Given the description of an element on the screen output the (x, y) to click on. 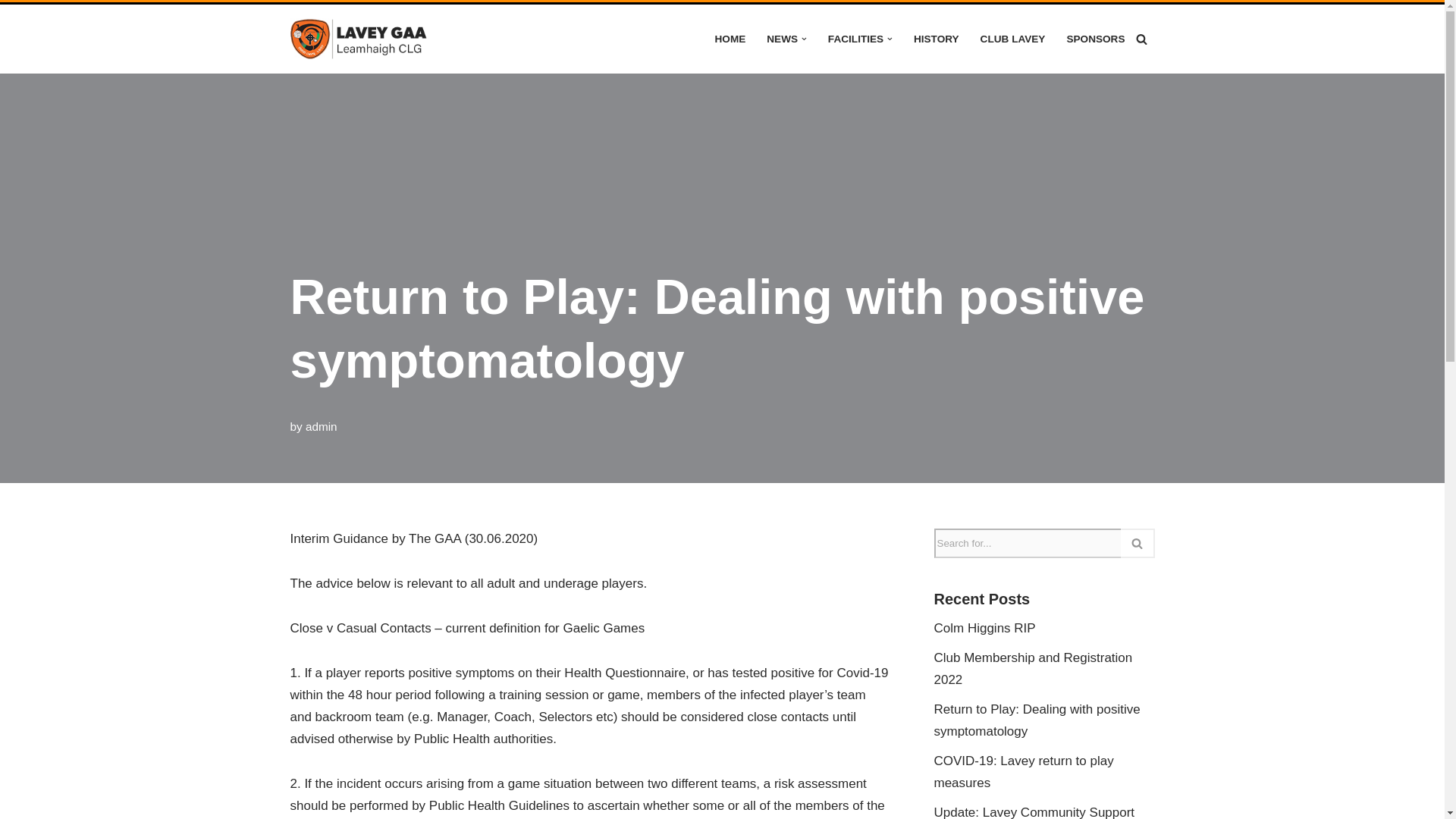
FACILITIES (855, 38)
HOME (729, 38)
Skip to content (11, 36)
NEWS (782, 38)
CLUB LAVEY (1012, 38)
SPONSORS (1094, 38)
admin (321, 426)
HISTORY (936, 38)
Posts by admin (321, 426)
